Given the description of an element on the screen output the (x, y) to click on. 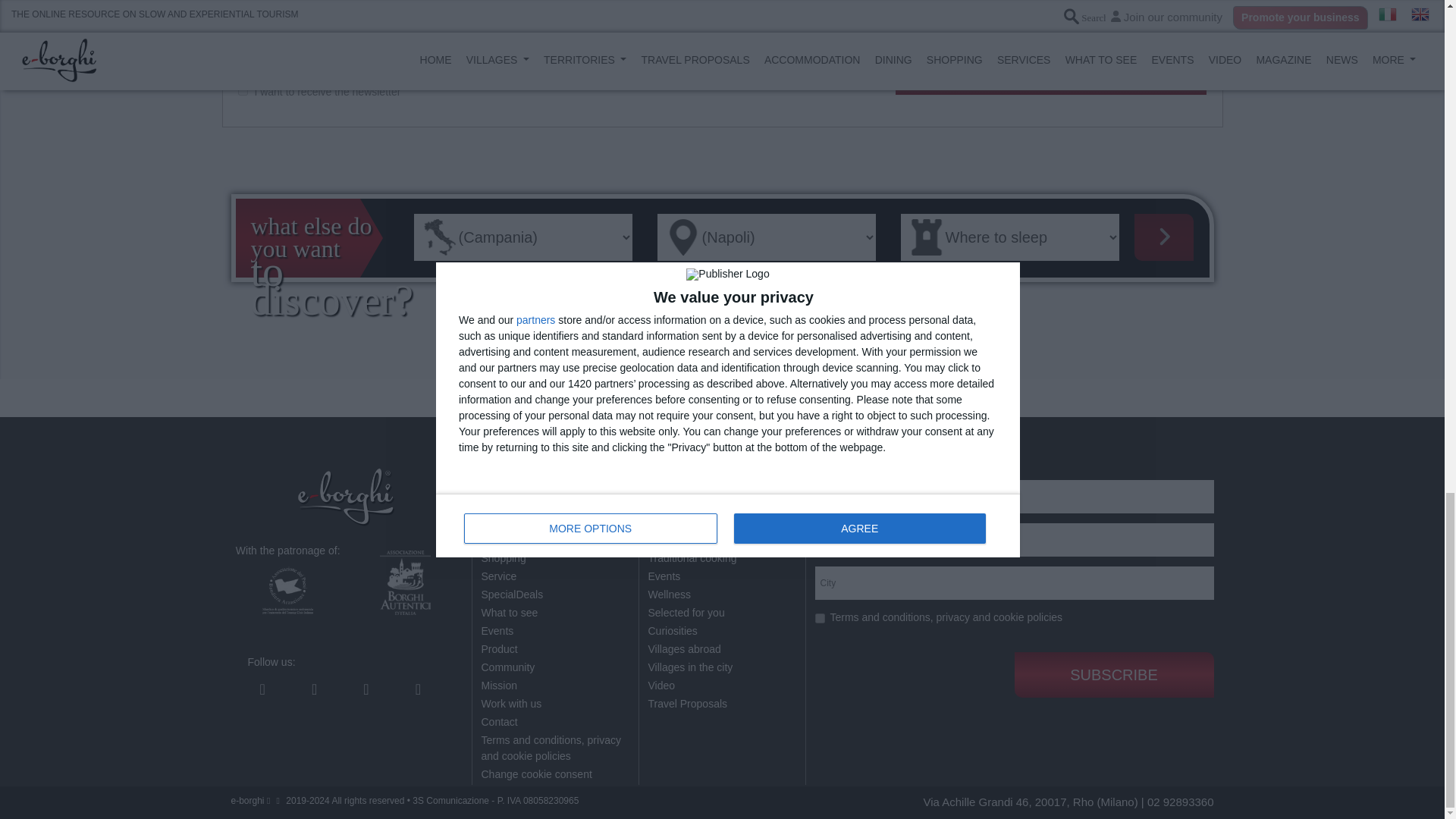
1 (242, 71)
1 (242, 90)
1 (818, 618)
Subscribe (1114, 674)
Send (1051, 79)
